Given the description of an element on the screen output the (x, y) to click on. 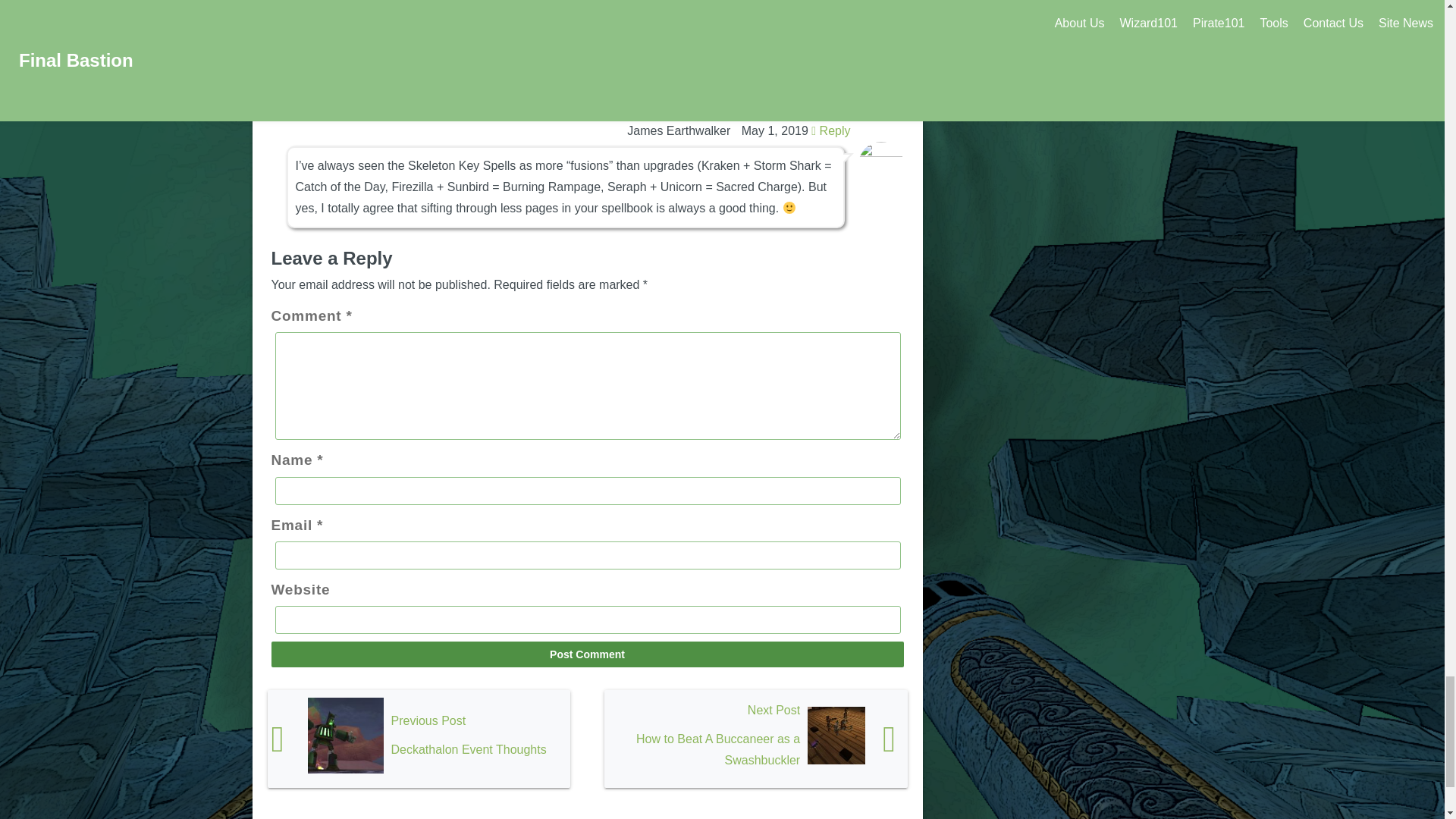
Post Comment (587, 654)
Deckathalon Event Thoughts (418, 738)
How to Beat A Buccaneer as a Swashbuckler (755, 738)
